Given the description of an element on the screen output the (x, y) to click on. 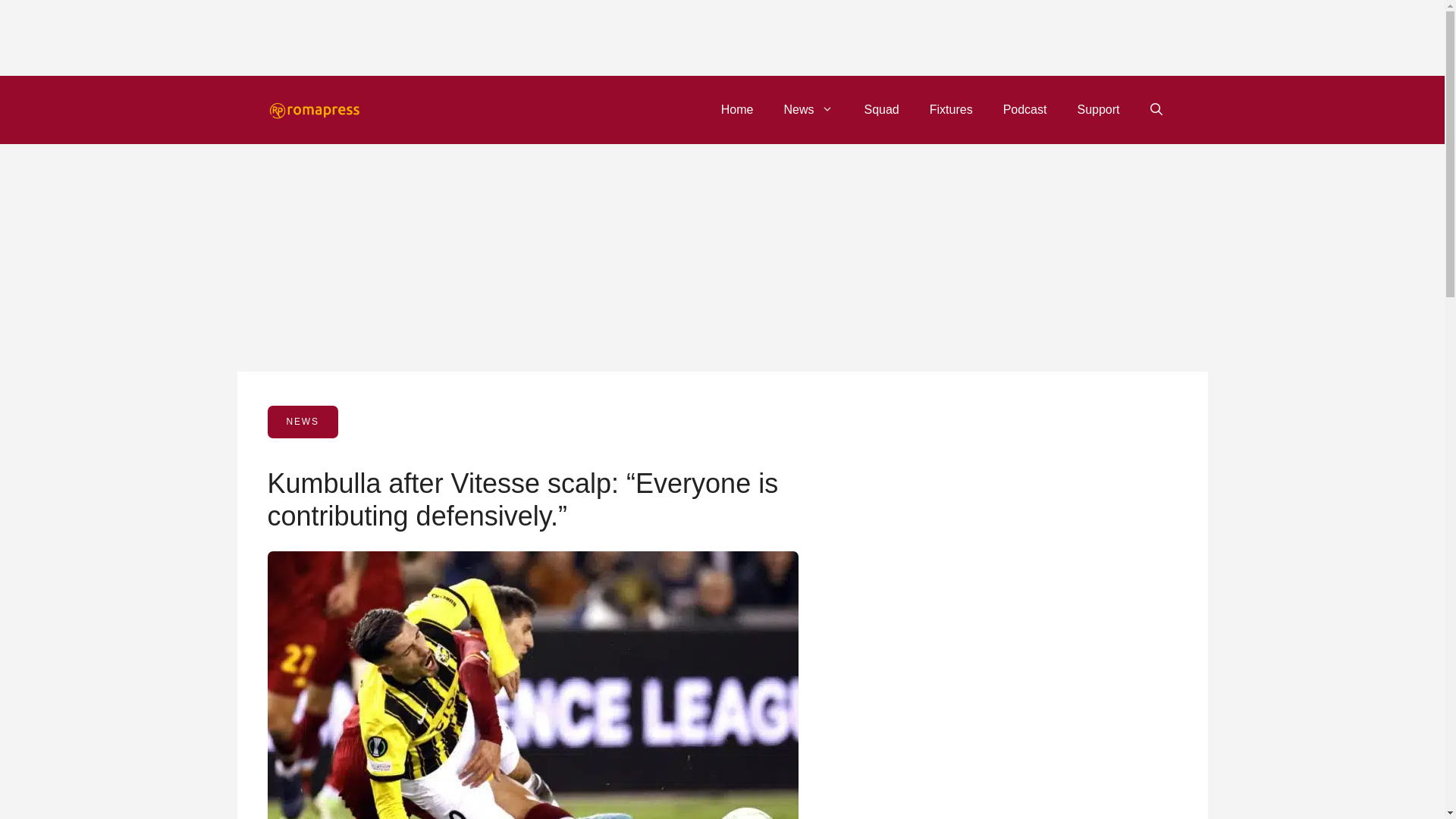
Support (1097, 109)
News (808, 109)
Squad (881, 109)
Podcast (1025, 109)
Home (737, 109)
Fixtures (951, 109)
